Given the description of an element on the screen output the (x, y) to click on. 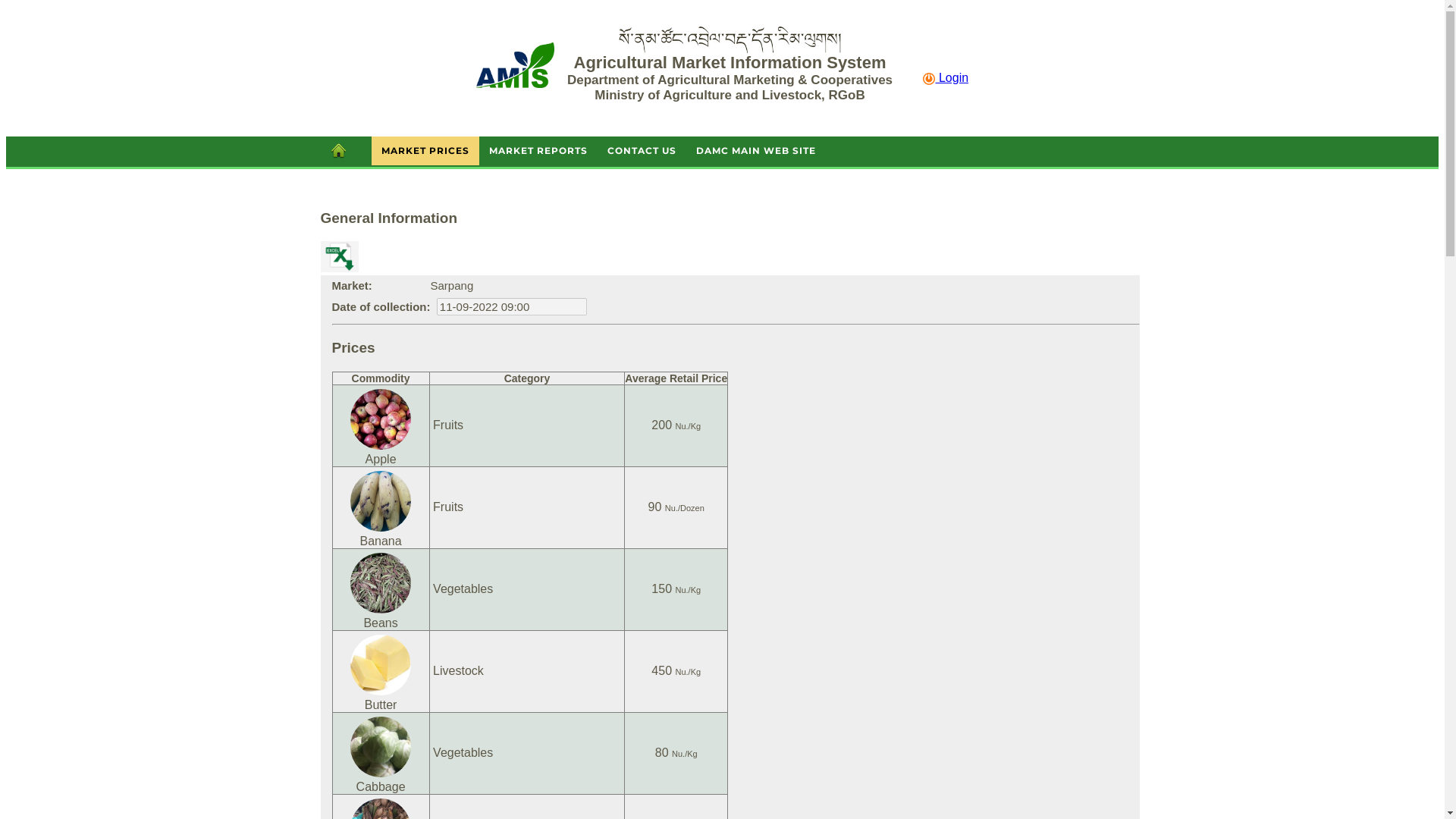
MARKET PRICES Element type: text (425, 150)
MARKET REPORTS Element type: text (538, 150)
CONTACT US Element type: text (641, 150)
Login Element type: text (945, 77)
Export marketsheet information in Excel Element type: hover (338, 256)
DAMC MAIN WEB SITE Element type: text (755, 150)
